Given the description of an element on the screen output the (x, y) to click on. 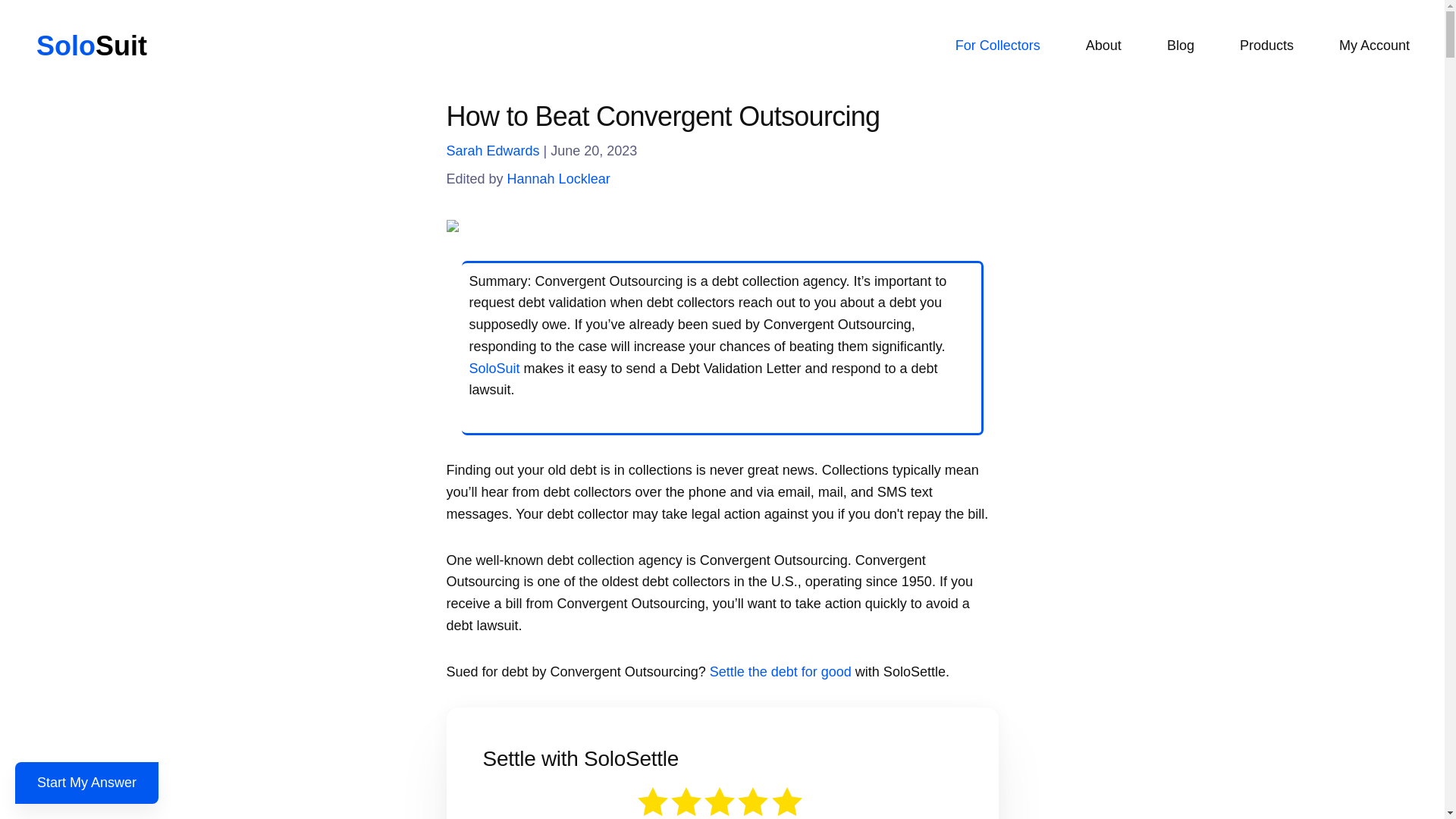
Blog (1180, 45)
Hannah Locklear (558, 178)
Settle the debt for good (780, 671)
About (1103, 45)
Sarah Edwards (491, 150)
For Collectors (997, 45)
Products (1266, 45)
Start My Answer (86, 782)
EmbedReviews widget (720, 802)
My Account (1374, 45)
SoloSuit (493, 368)
SoloSuit (91, 45)
